Given the description of an element on the screen output the (x, y) to click on. 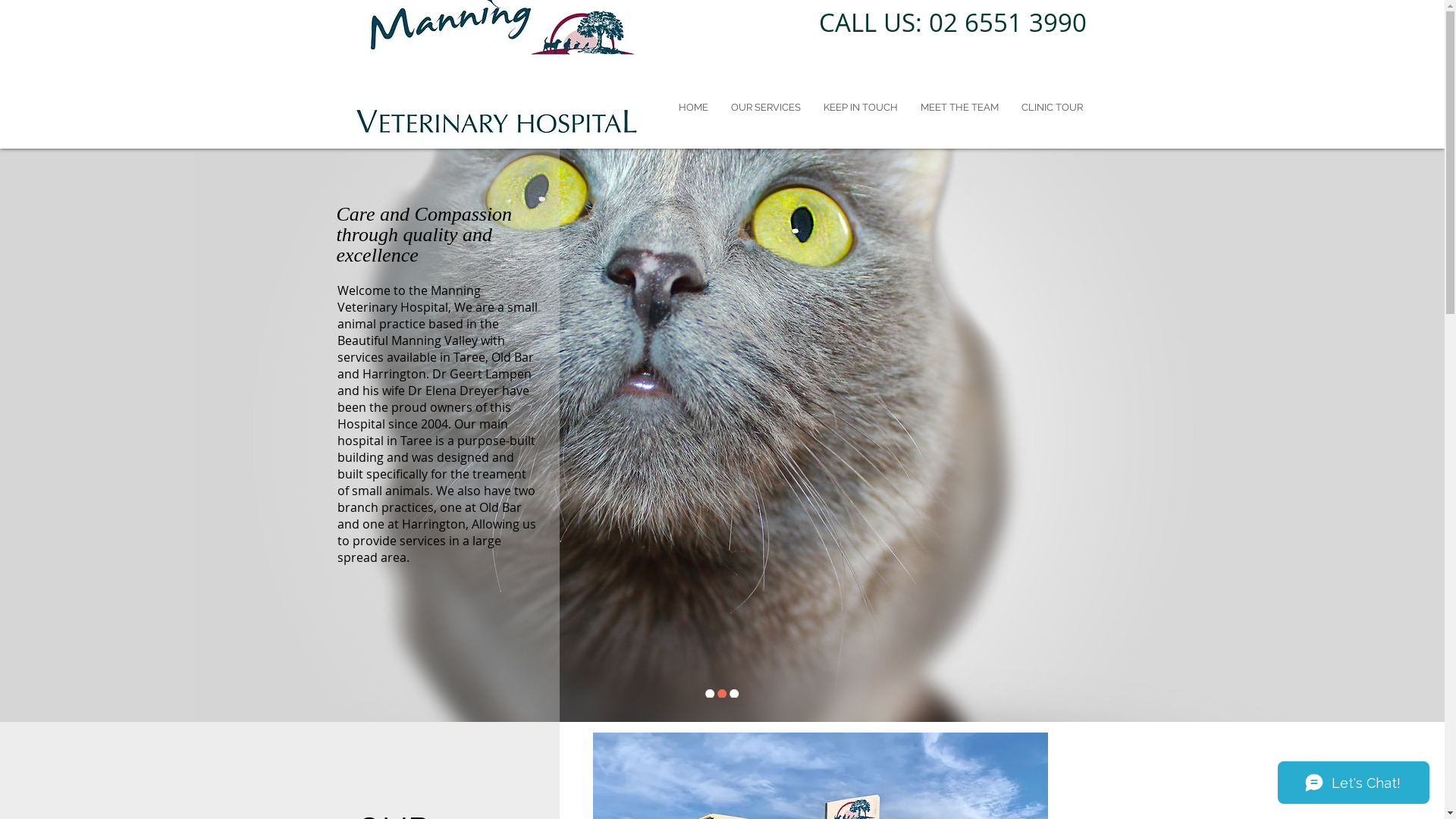
KEEP IN TOUCH Element type: text (859, 107)
OUR SERVICES Element type: text (764, 107)
MEET THE TEAM Element type: text (958, 107)
CLINIC TOUR Element type: text (1052, 107)
HOME Element type: text (693, 107)
